Given the description of an element on the screen output the (x, y) to click on. 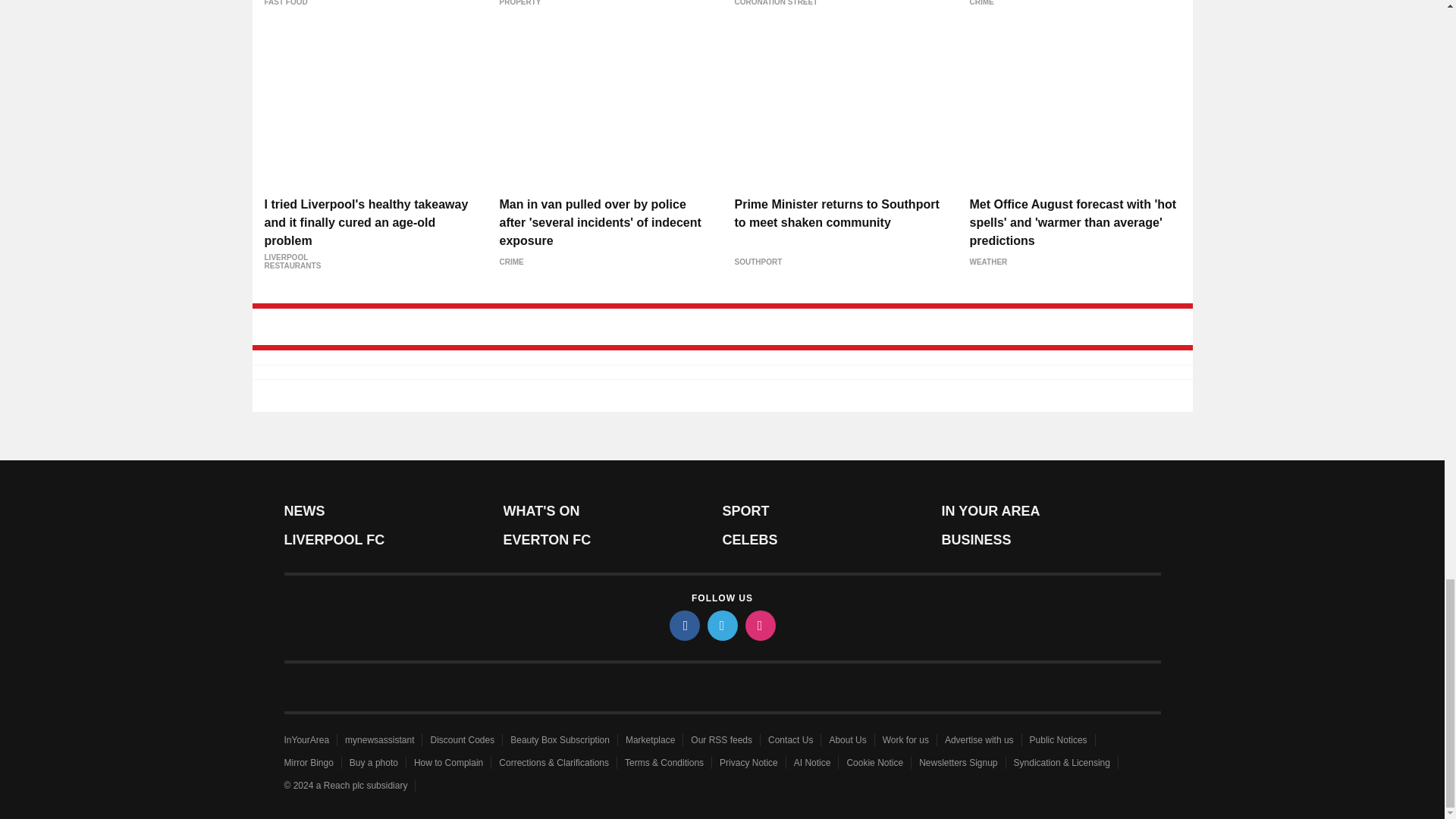
instagram (759, 625)
facebook (683, 625)
twitter (721, 625)
